Given the description of an element on the screen output the (x, y) to click on. 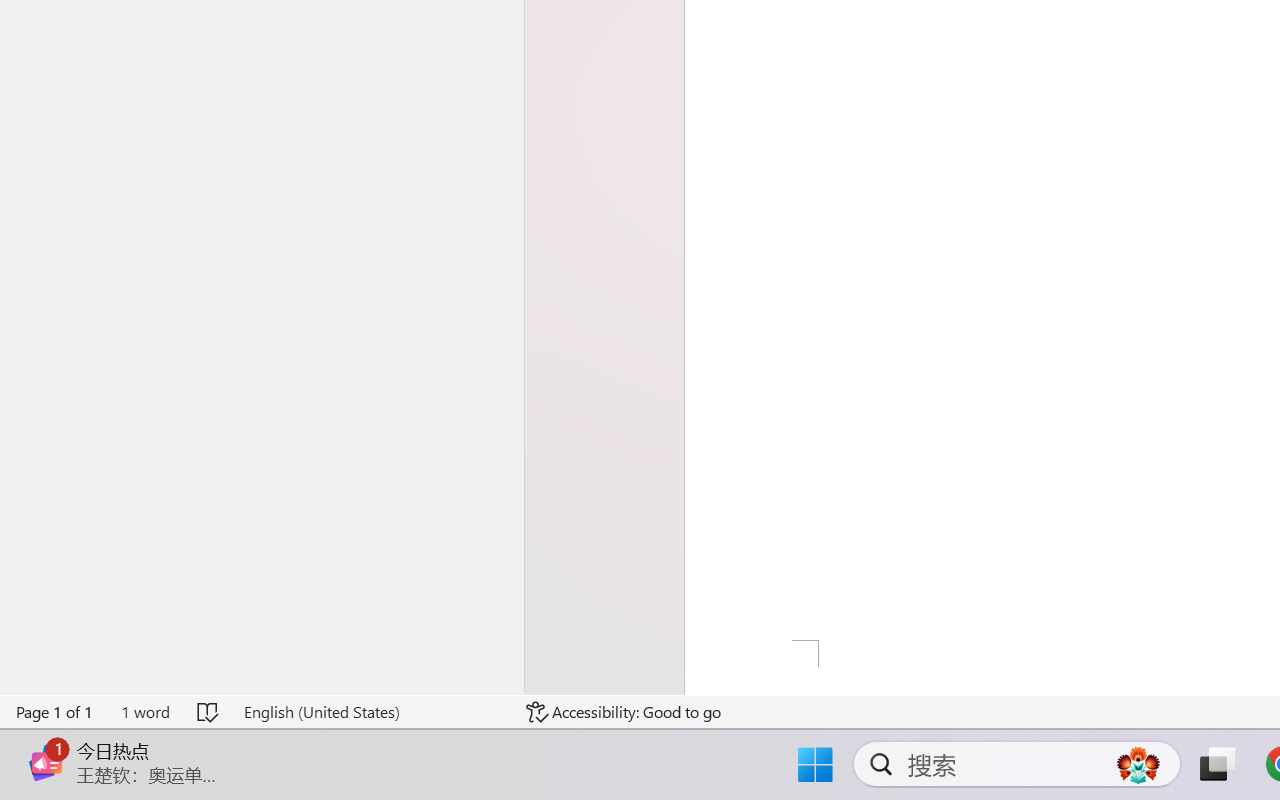
Page Number Page 1 of 1 (55, 712)
Class: Image (46, 762)
Accessibility Checker Accessibility: Good to go (623, 712)
Spelling and Grammar Check No Errors (208, 712)
Language English (United States) (370, 712)
Word Count 1 word (145, 712)
AutomationID: DynamicSearchBoxGleamImage (1138, 764)
